Given the description of an element on the screen output the (x, y) to click on. 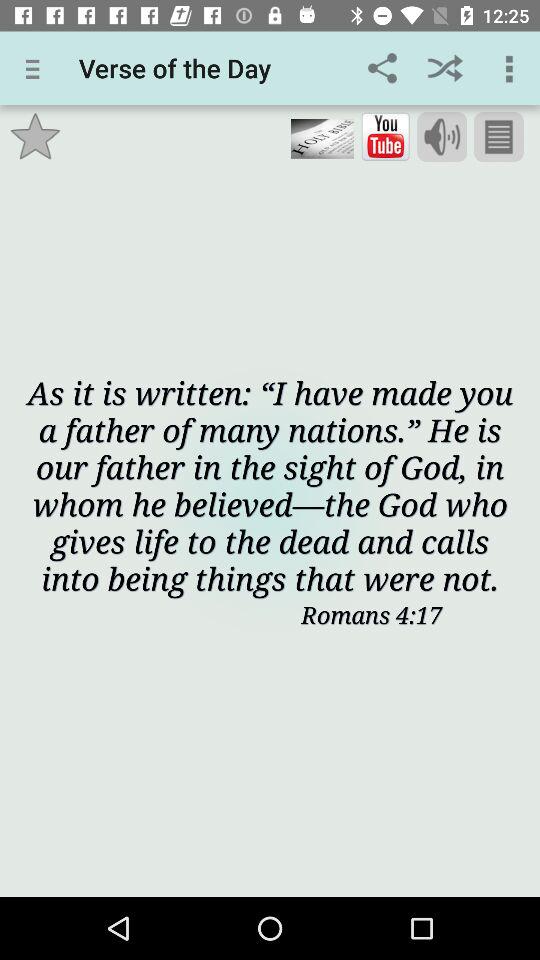
scroll until the as it is icon (269, 484)
